Given the description of an element on the screen output the (x, y) to click on. 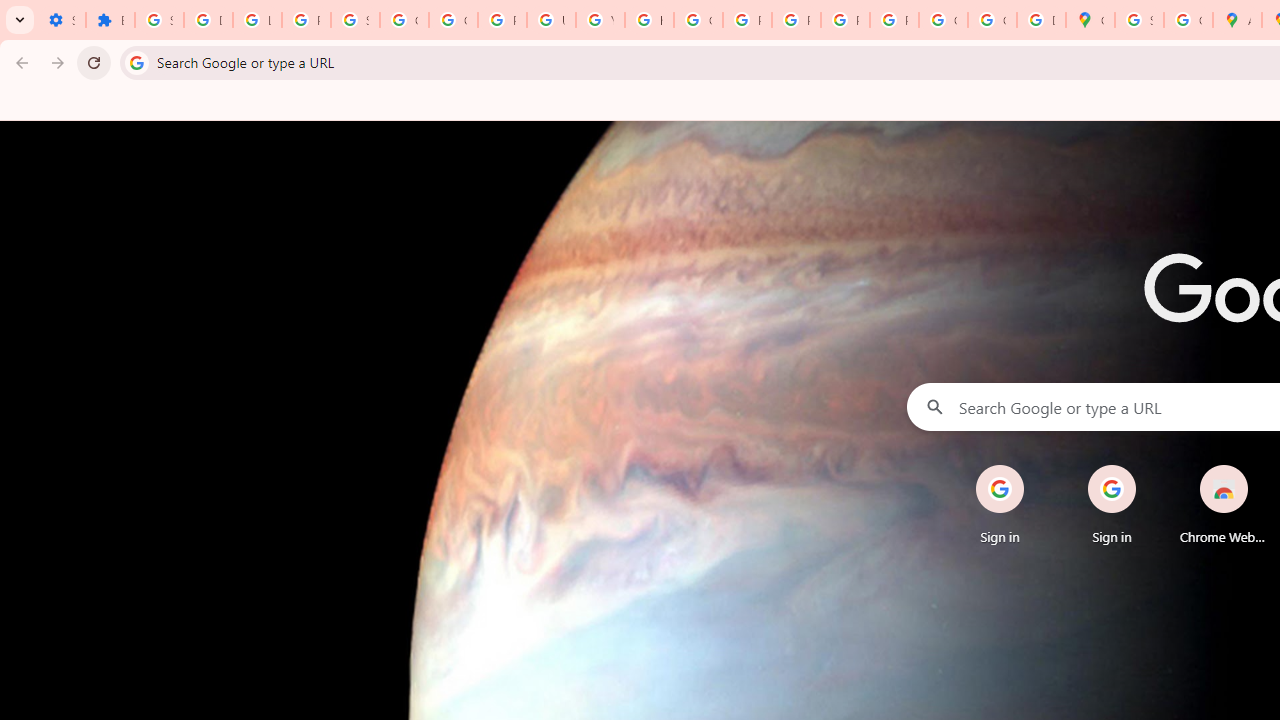
Settings - On startup (61, 20)
Privacy Help Center - Policies Help (747, 20)
Sign in - Google Accounts (159, 20)
Google Account Help (404, 20)
YouTube (600, 20)
Delete photos & videos - Computer - Google Photos Help (208, 20)
https://scholar.google.com/ (649, 20)
